Given the description of an element on the screen output the (x, y) to click on. 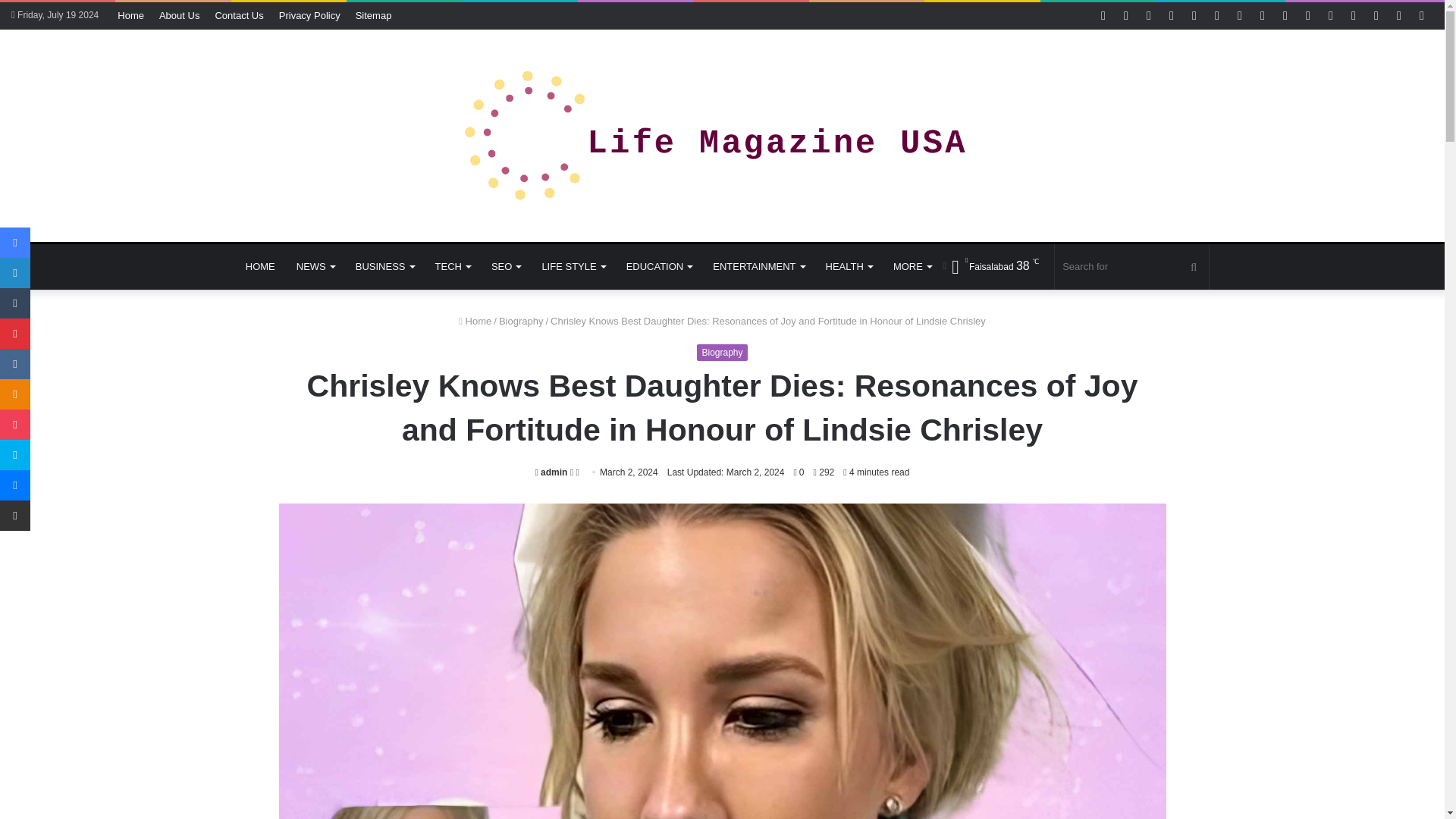
LIFE STYLE (572, 266)
HOME (259, 266)
SEO (505, 266)
Scattered Clouds (990, 266)
EDUCATION (659, 266)
Privacy Policy (308, 15)
admin (551, 471)
Sitemap (372, 15)
NEWS (315, 266)
Contact Us (238, 15)
TECH (452, 266)
About Us (178, 15)
BUSINESS (385, 266)
Life Magazine USA (721, 135)
ENTERTAINMENT (757, 266)
